Given the description of an element on the screen output the (x, y) to click on. 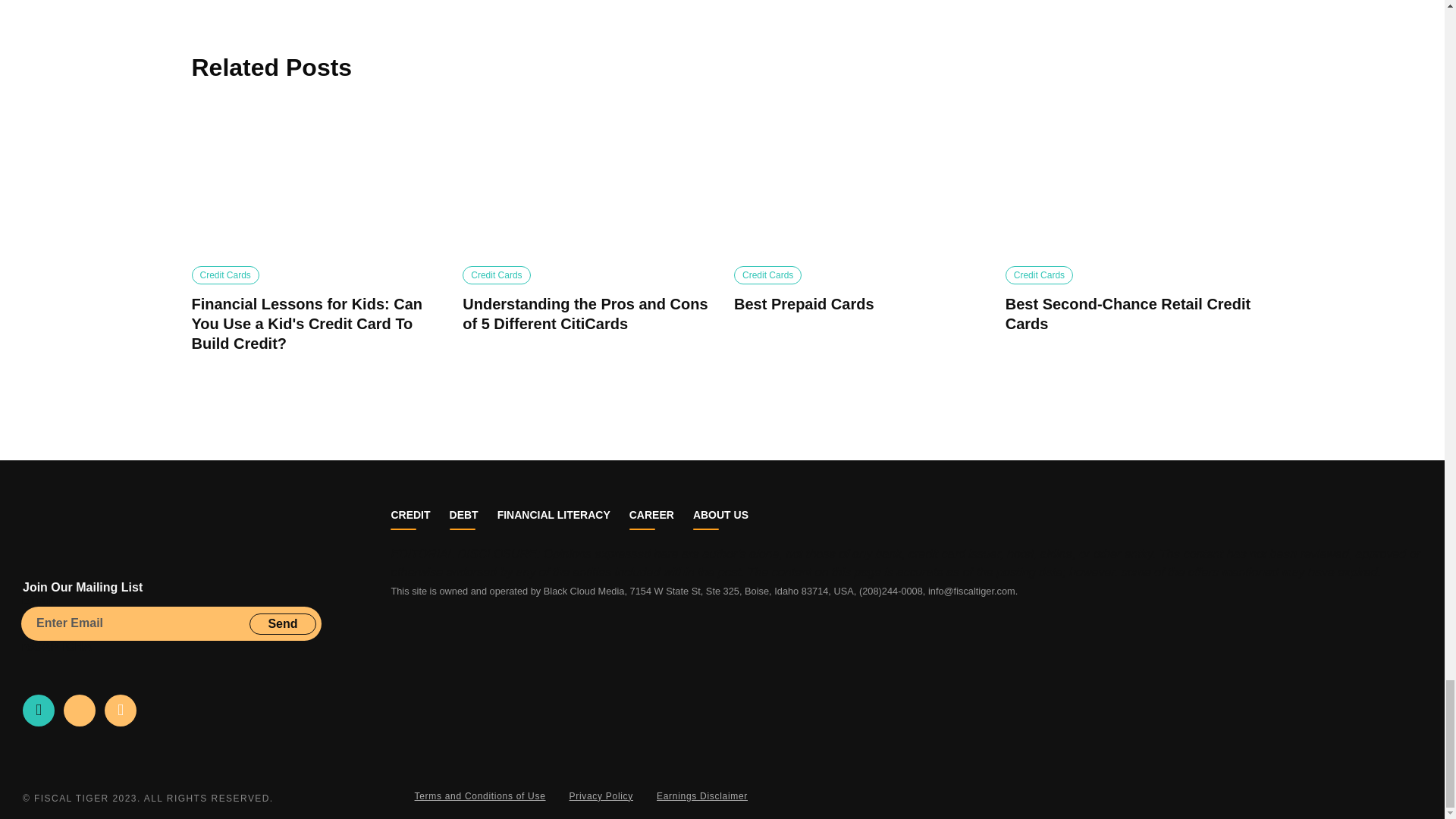
Understanding the Pros and Cons of 5 Different CitiCards (586, 182)
Best Second-Chance Retail Credit Cards (1129, 182)
Best Prepaid Cards (857, 182)
